Given the description of an element on the screen output the (x, y) to click on. 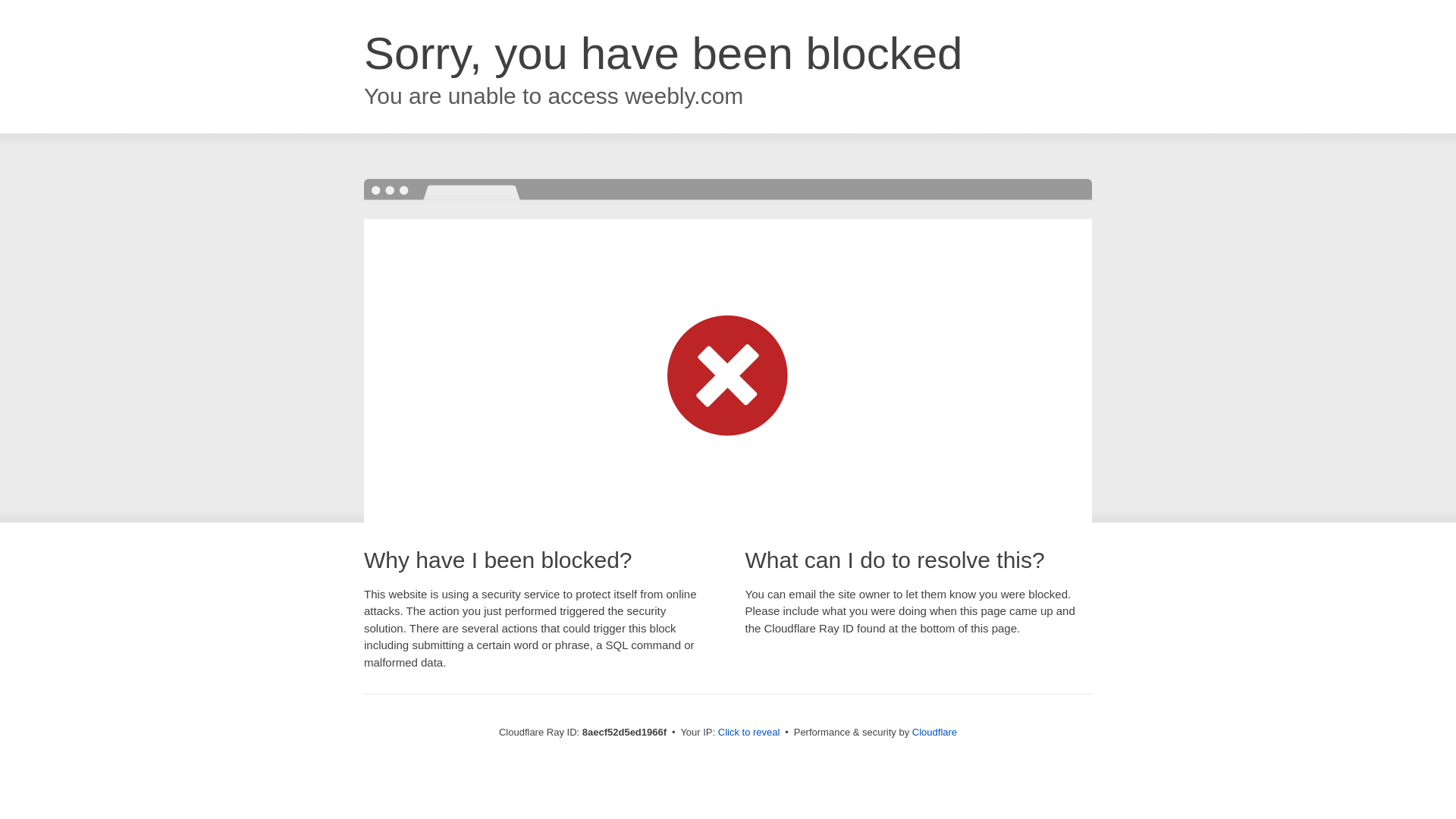
Cloudflare (934, 731)
Click to reveal (748, 732)
